Given the description of an element on the screen output the (x, y) to click on. 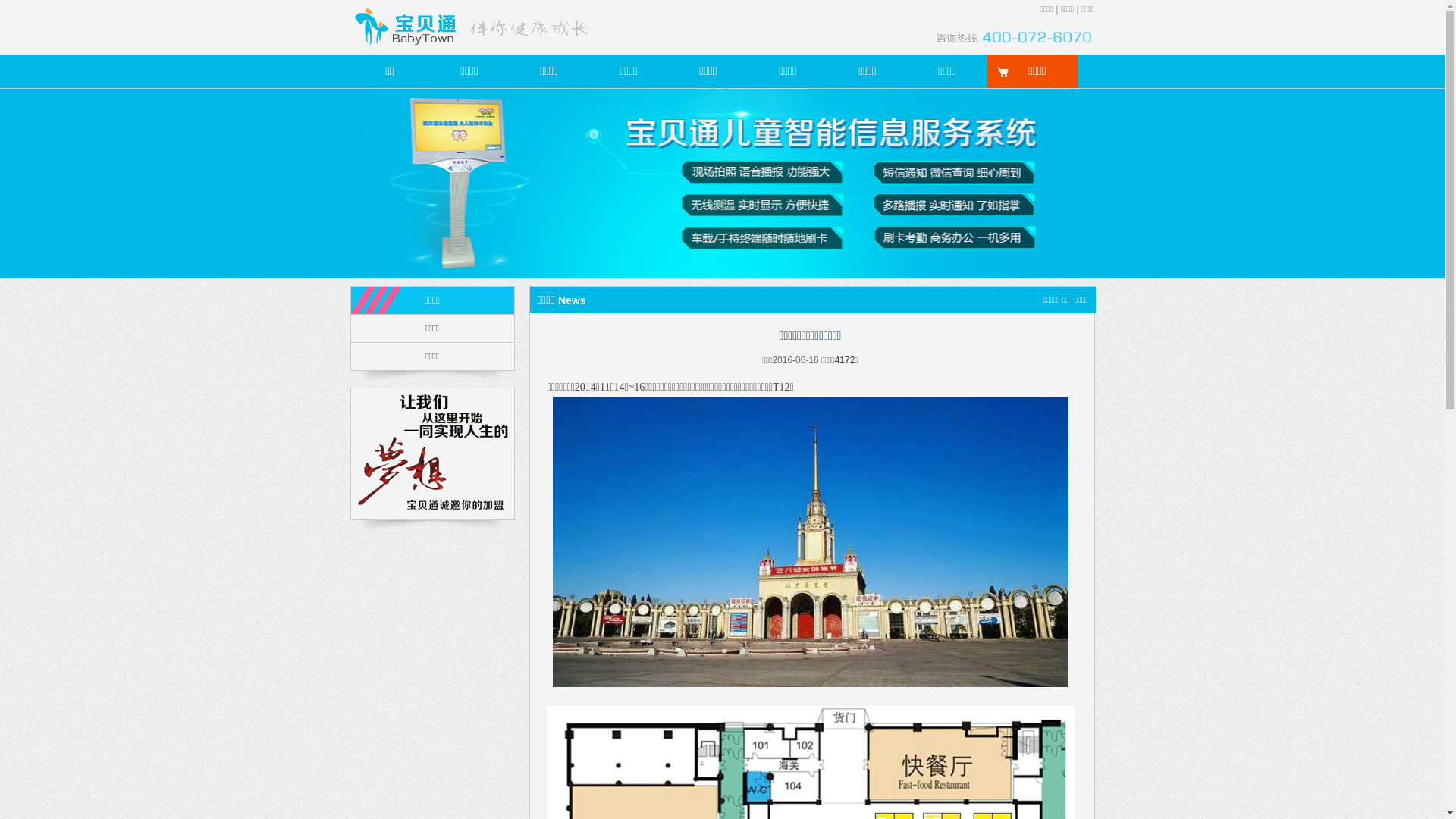
4172 Element type: text (844, 359)
